Given the description of an element on the screen output the (x, y) to click on. 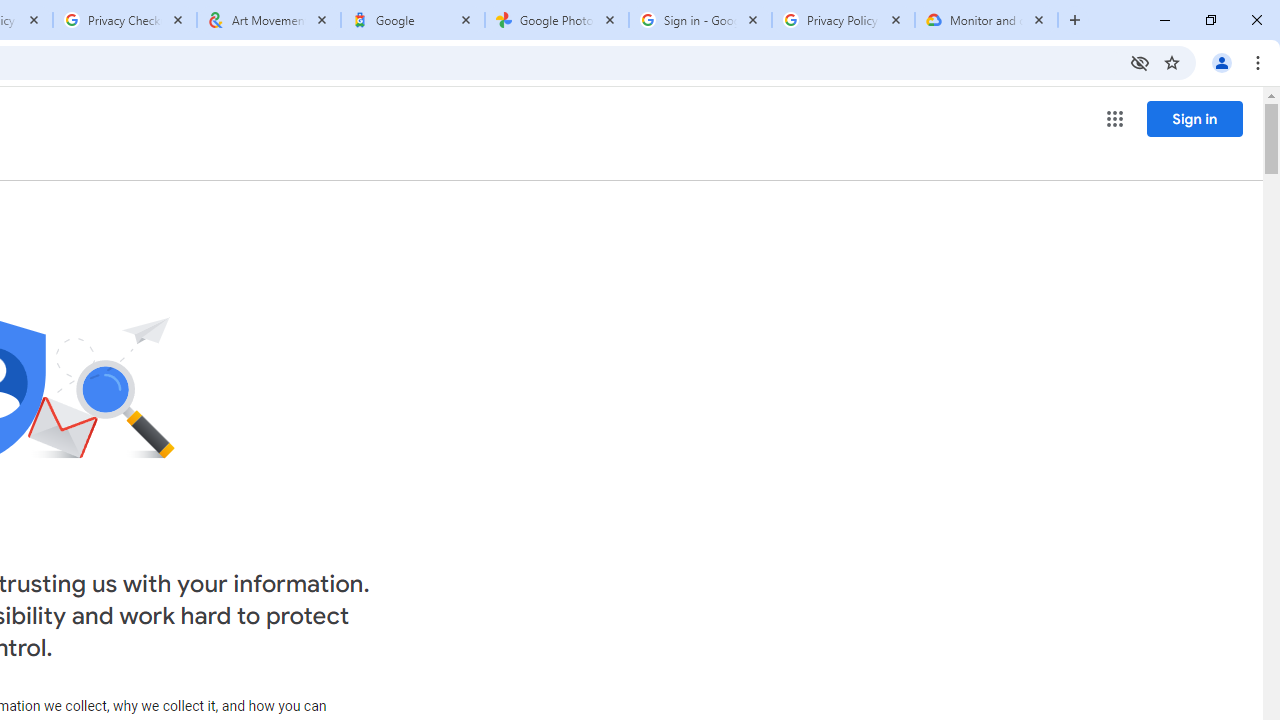
Sign in - Google Accounts (699, 20)
Privacy Checkup (124, 20)
